Given the description of an element on the screen output the (x, y) to click on. 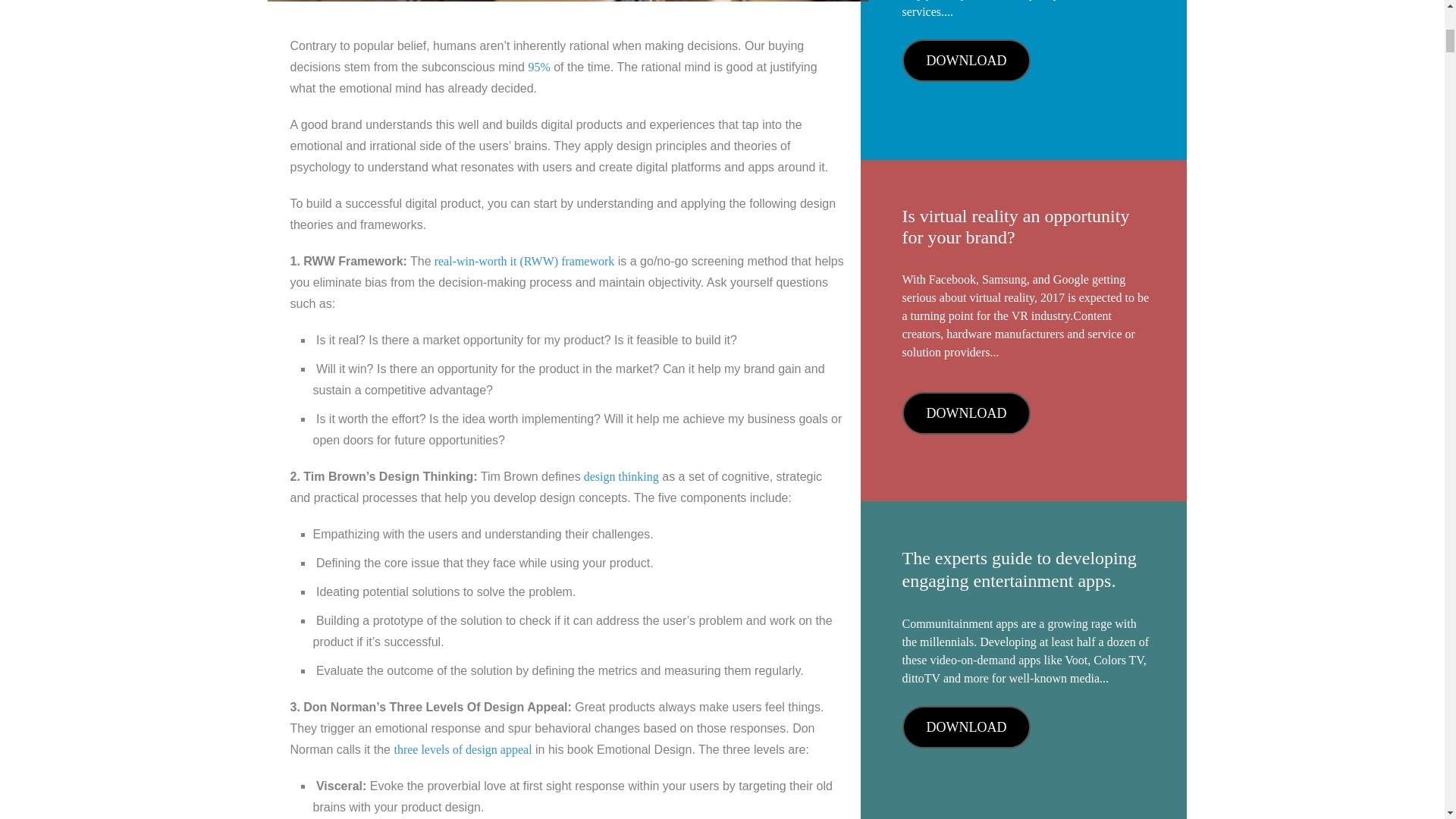
three levels of design appeal (462, 748)
 design thinking (619, 476)
